Given the description of an element on the screen output the (x, y) to click on. 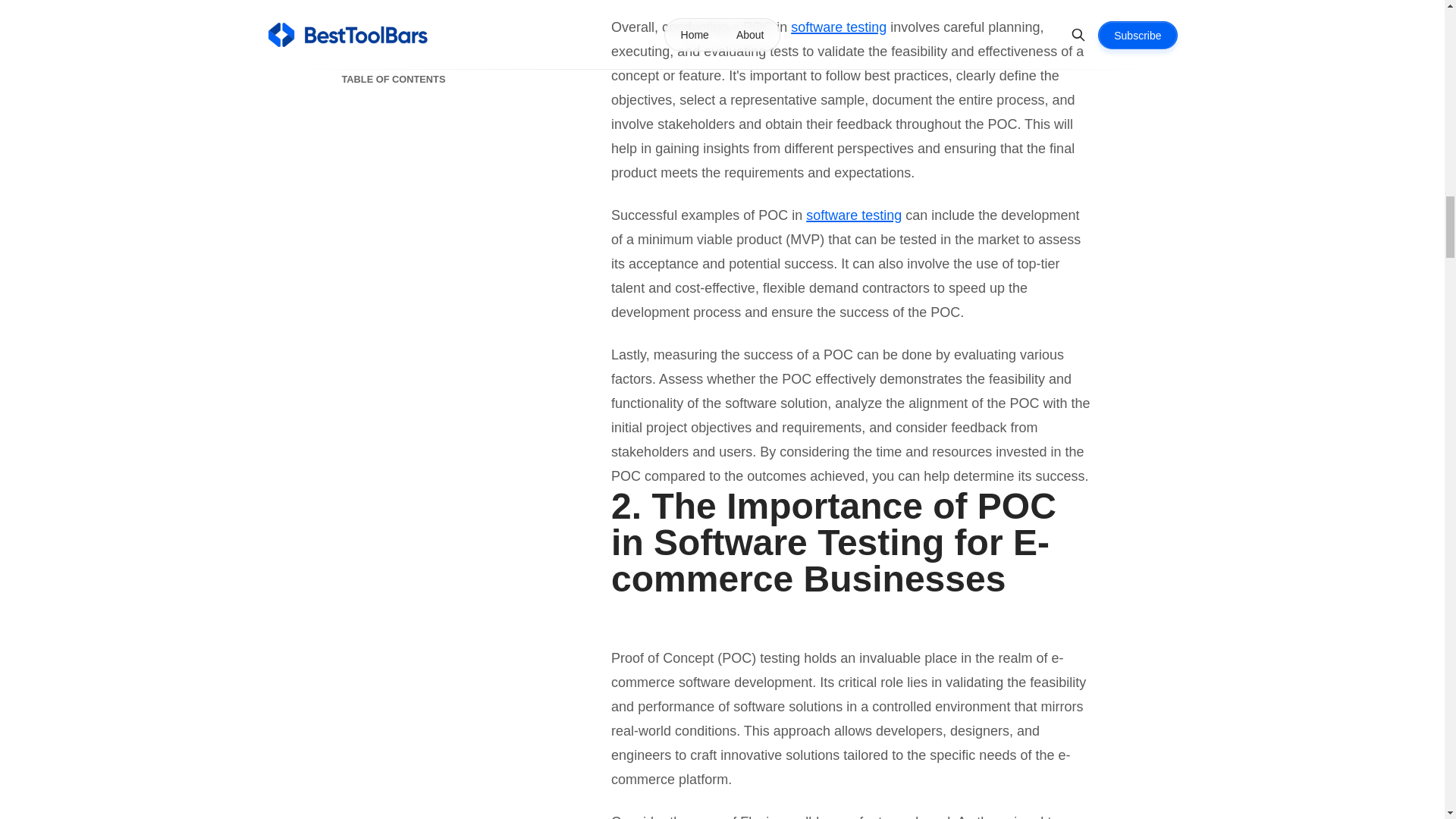
software testing (853, 215)
software testing (838, 27)
